Given the description of an element on the screen output the (x, y) to click on. 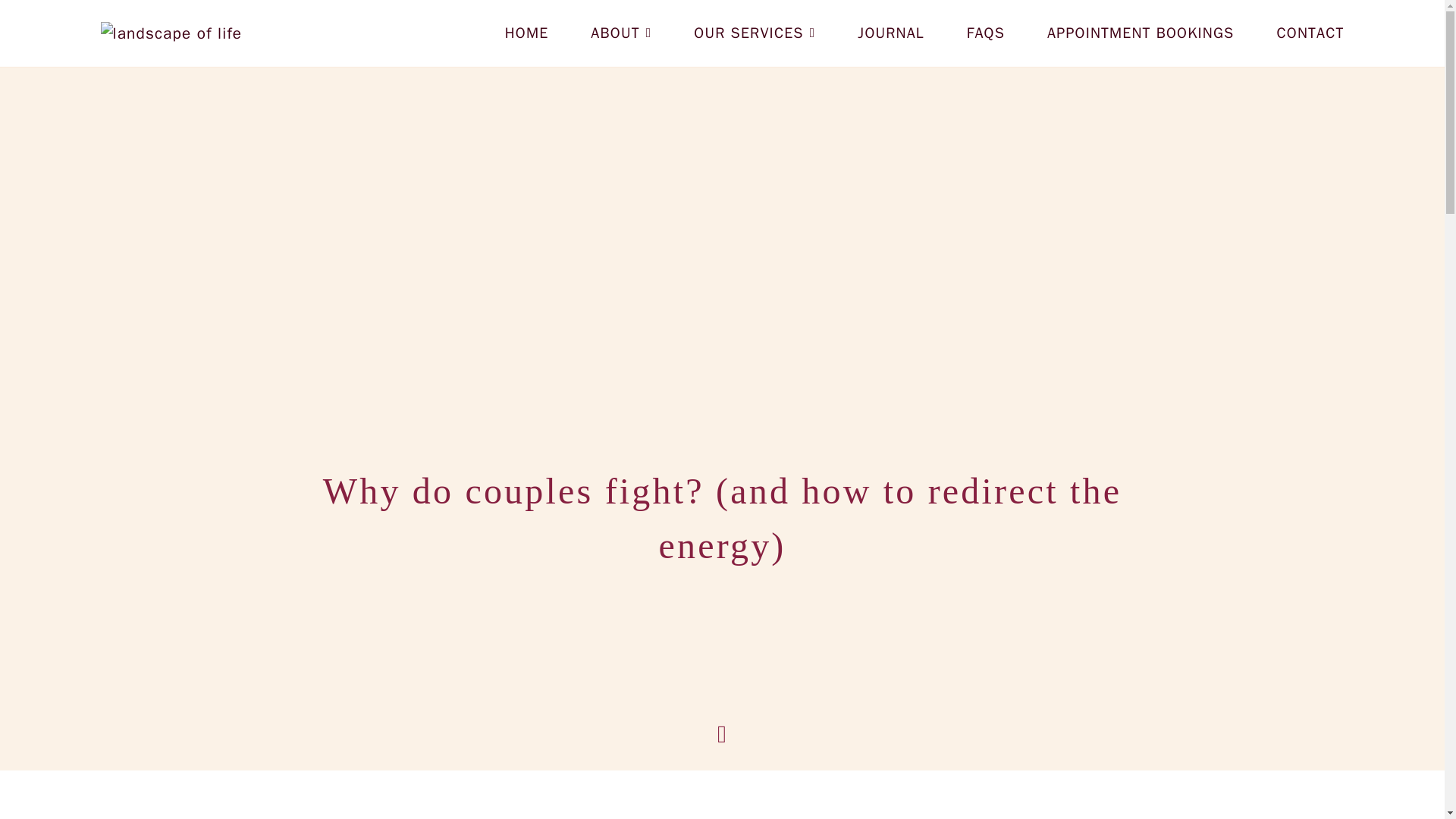
APPOINTMENT BOOKINGS (1139, 33)
JOURNAL (890, 33)
HOME (526, 33)
landscape of life (170, 33)
ABOUT (620, 33)
FAQS (985, 33)
CONTACT (1309, 33)
